Given the description of an element on the screen output the (x, y) to click on. 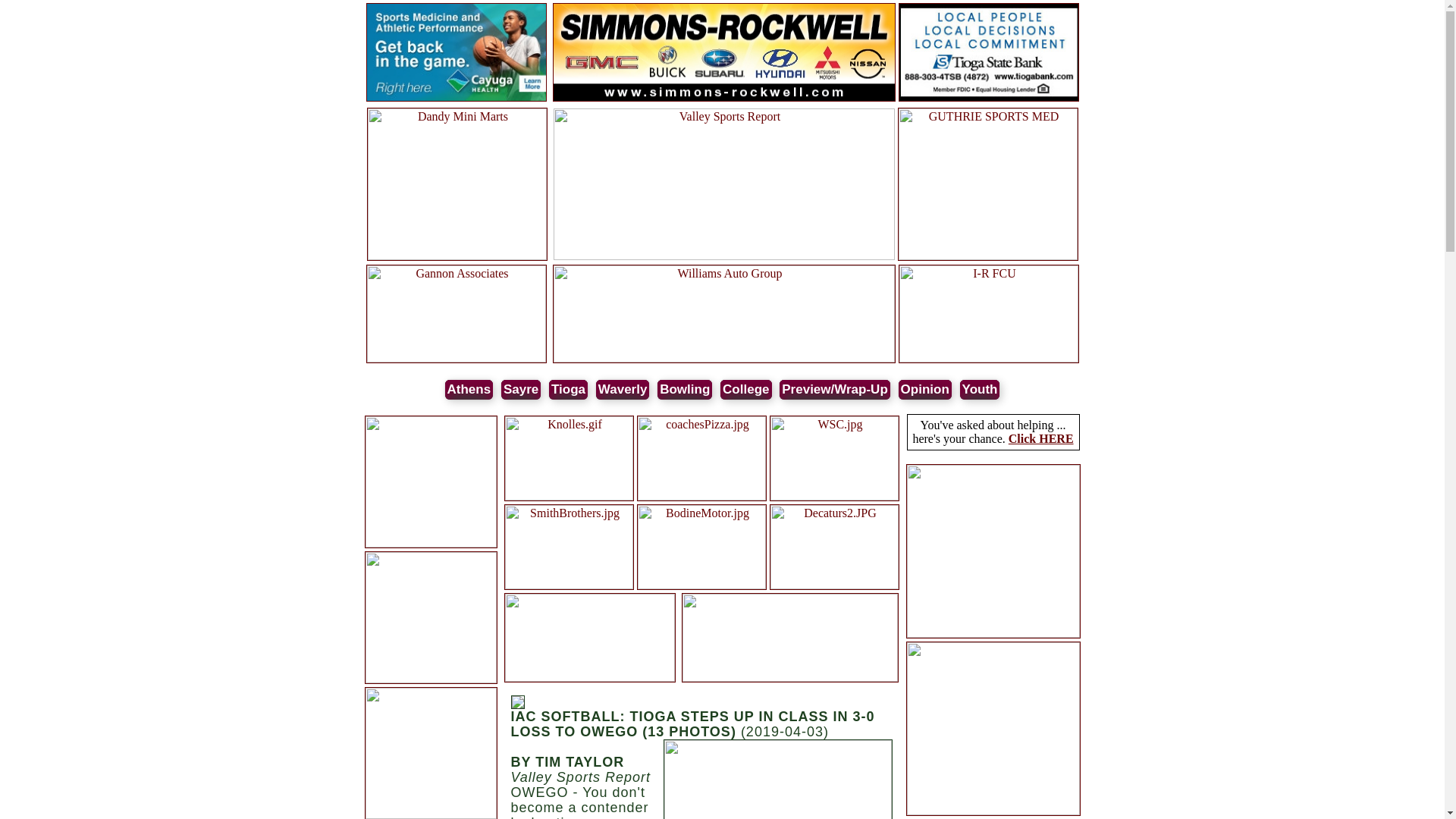
Cayuga Health (455, 98)
Valley Sports Report (723, 255)
Gannon Associates (455, 358)
Youth (979, 389)
Athens (469, 389)
Opinion (925, 389)
Sayre (520, 389)
Simmons-Rockwell (723, 98)
Tioga (568, 389)
Dandy Mini Marts (456, 255)
